Given the description of an element on the screen output the (x, y) to click on. 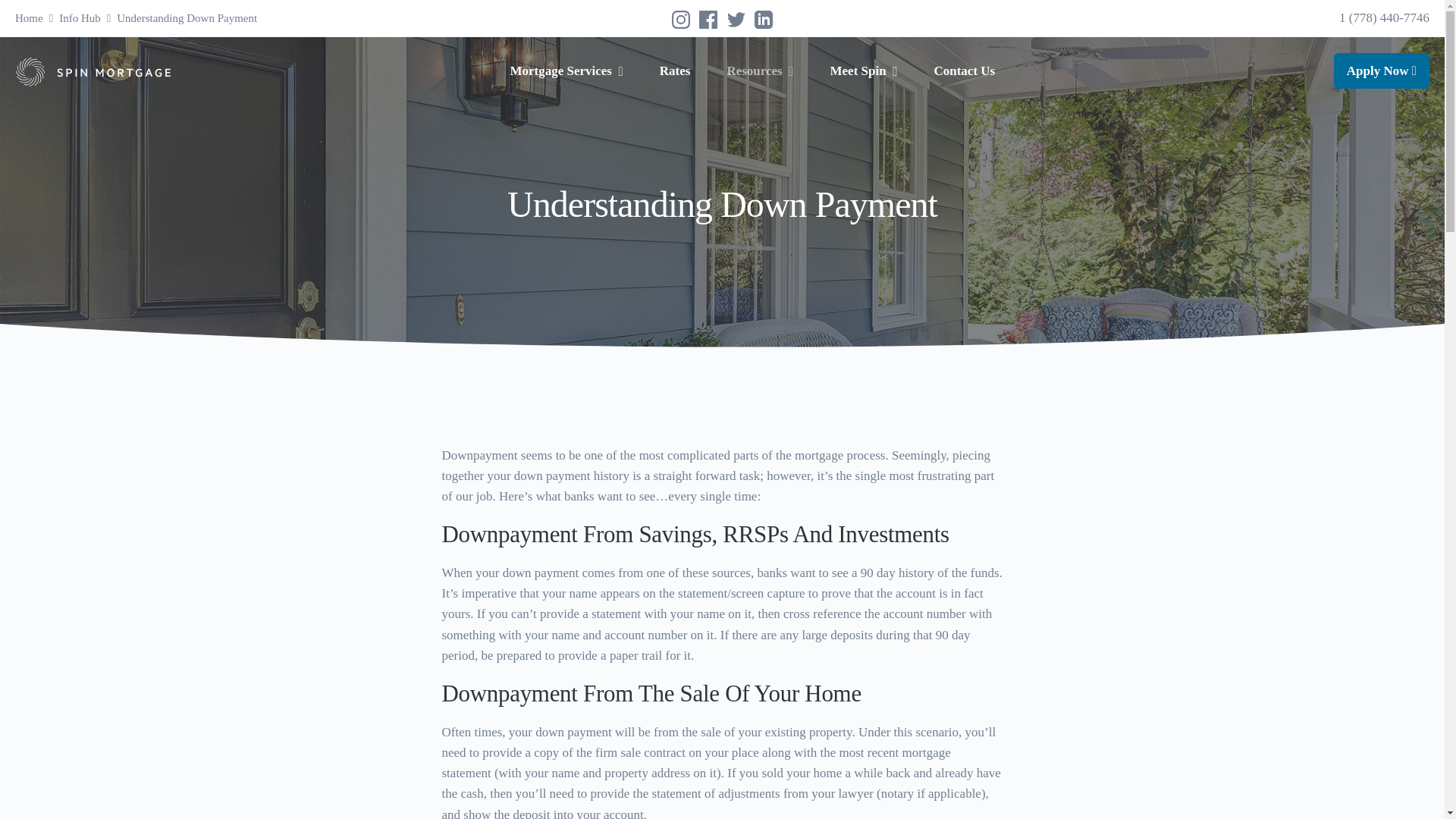
Rates (675, 70)
Contact Us (964, 70)
Instagram (680, 17)
Home (239, 18)
Facebook (28, 18)
Mortgage Services (707, 17)
Apply Now (566, 70)
Twitter (1381, 70)
Info Hub (735, 17)
